Given the description of an element on the screen output the (x, y) to click on. 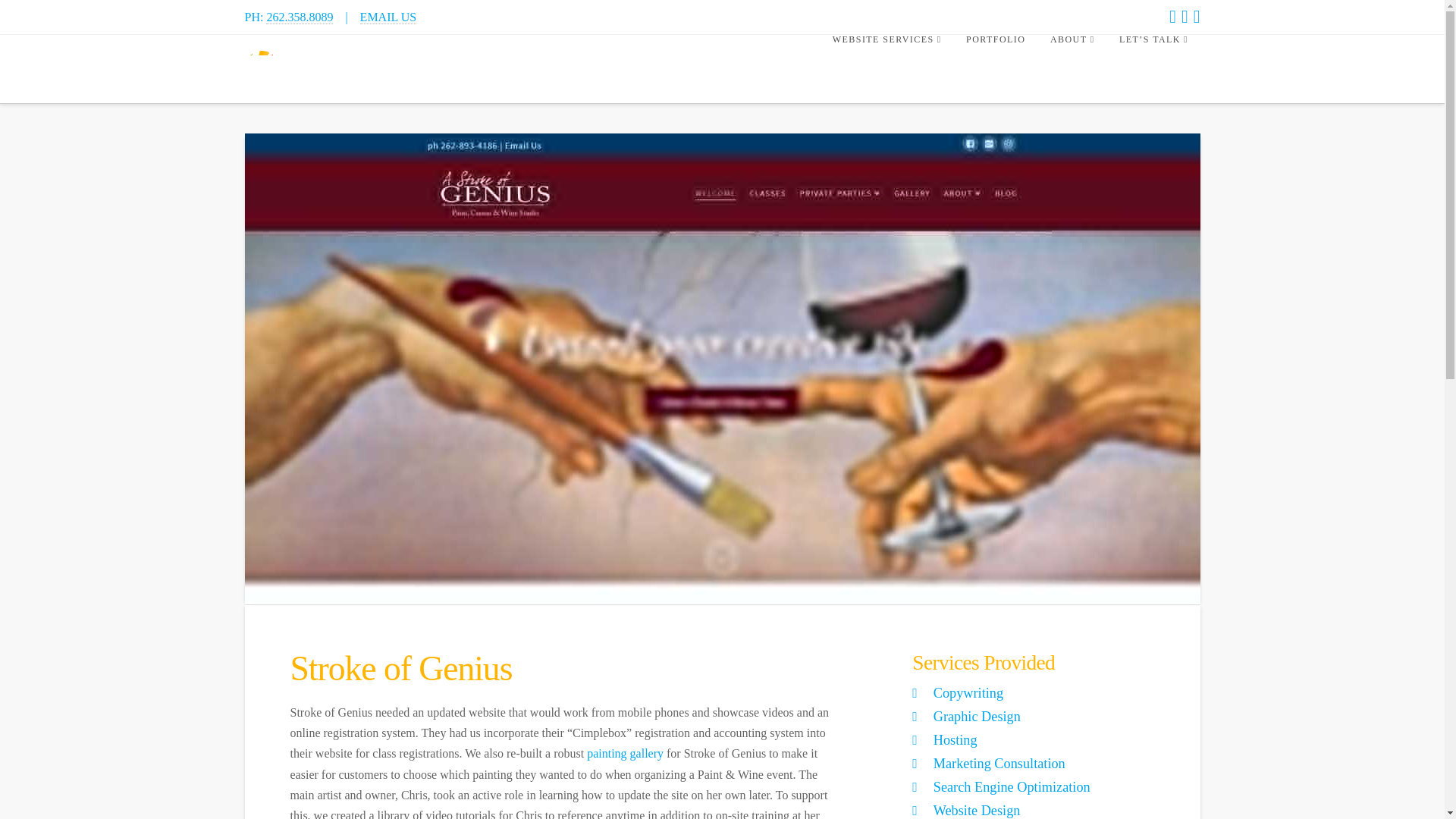
262.358.8089 (299, 17)
EMAIL US (387, 17)
PORTFOLIO (994, 69)
ABOUT (1071, 69)
WEBSITE SERVICES (886, 69)
